Given the description of an element on the screen output the (x, y) to click on. 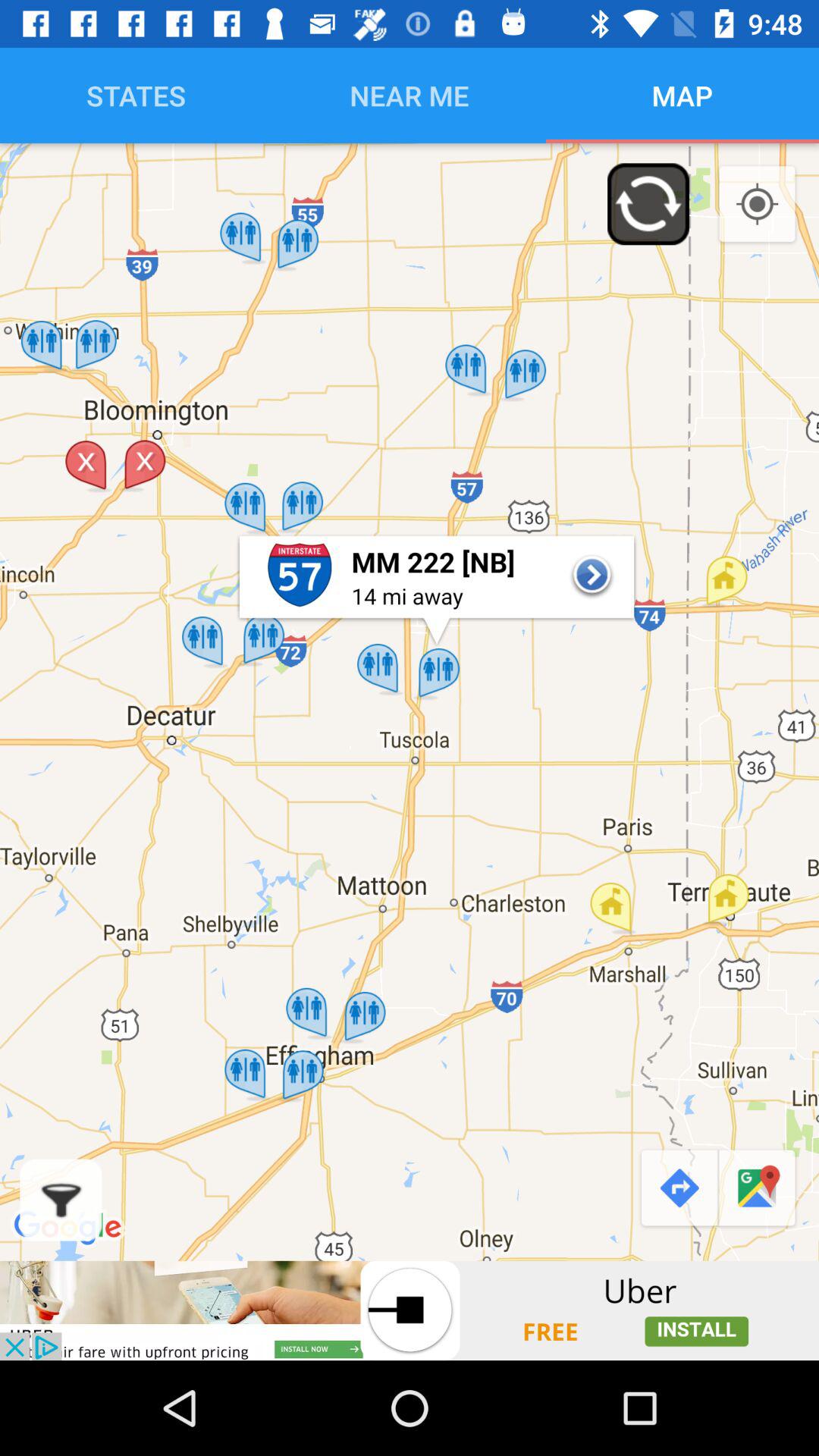
go to filters (60, 1200)
